Given the description of an element on the screen output the (x, y) to click on. 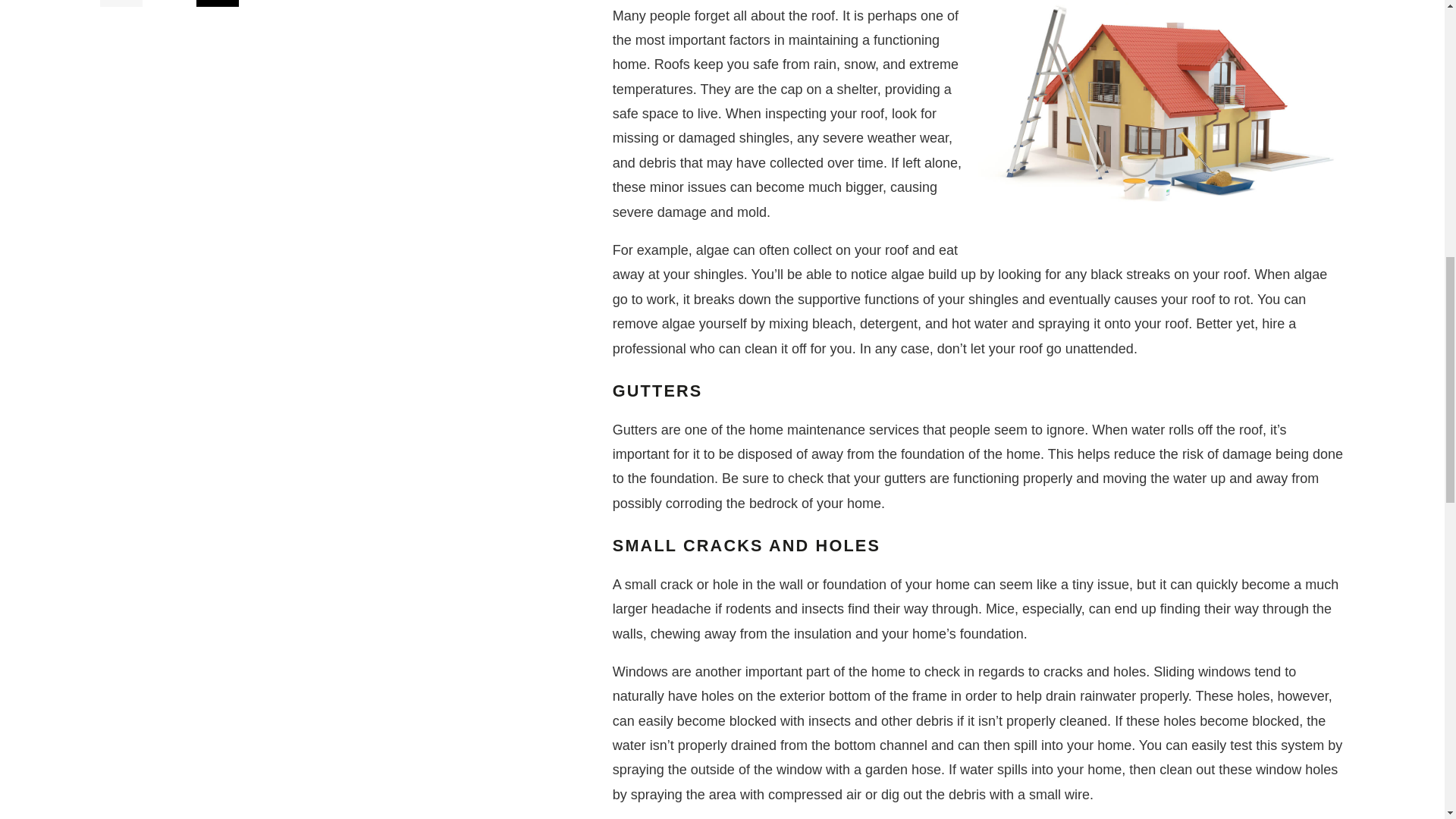
View next item (217, 3)
View previous item (121, 3)
